Given the description of an element on the screen output the (x, y) to click on. 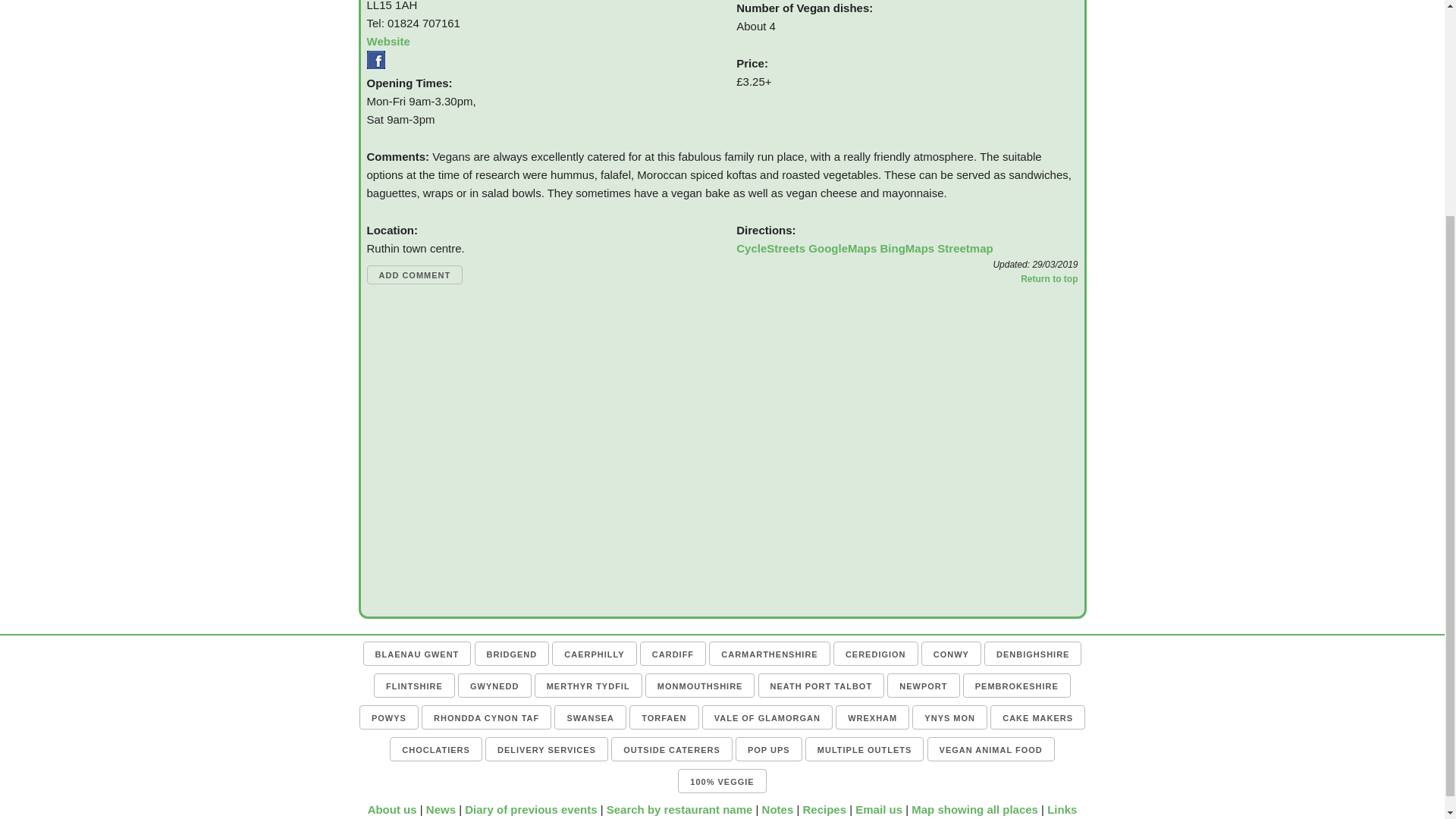
Streetmap (964, 246)
CycleStreets (770, 246)
GoogleMaps (842, 246)
Website (388, 41)
BingMaps (906, 246)
